Given the description of an element on the screen output the (x, y) to click on. 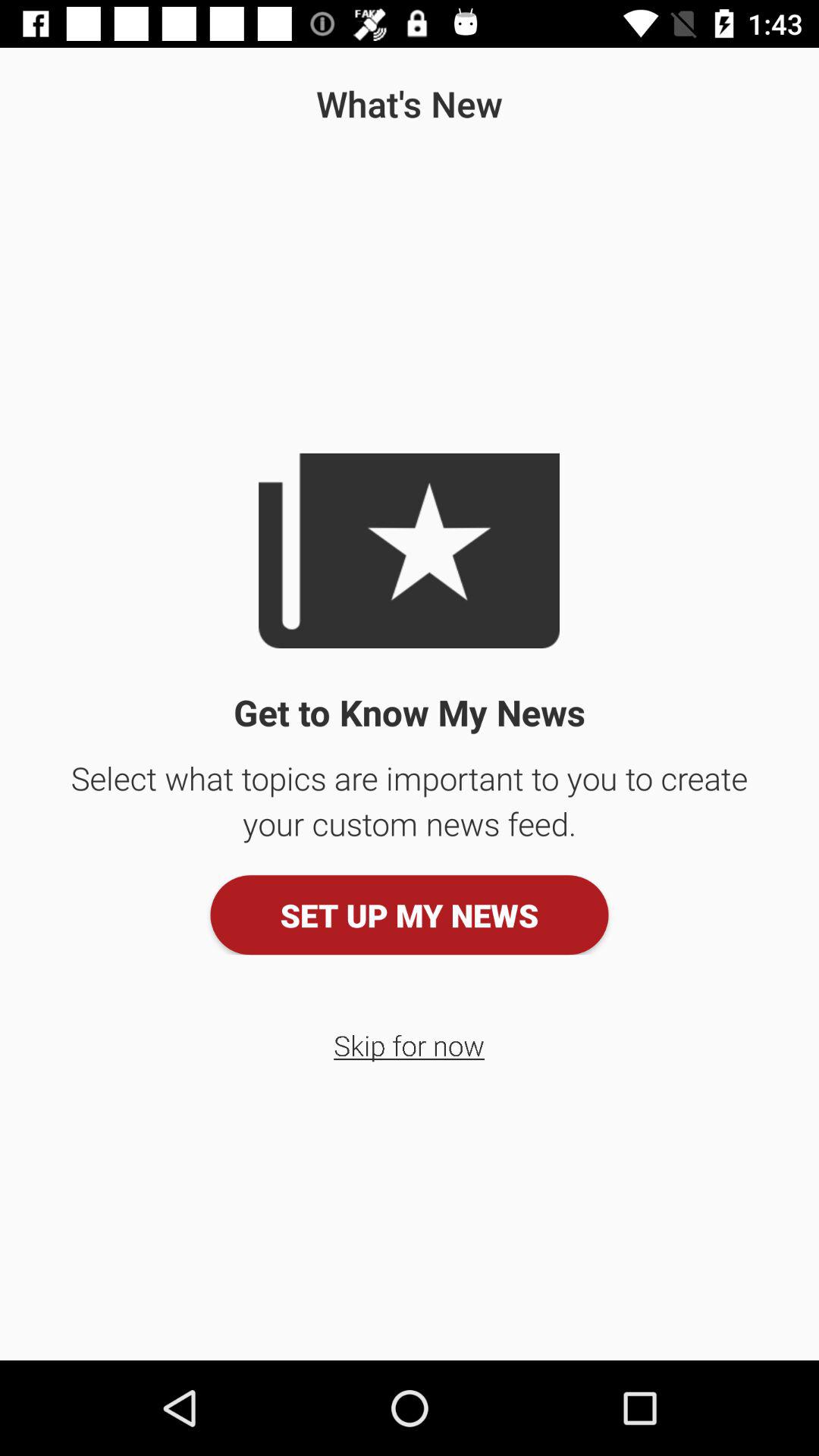
launch the set up my icon (409, 914)
